Given the description of an element on the screen output the (x, y) to click on. 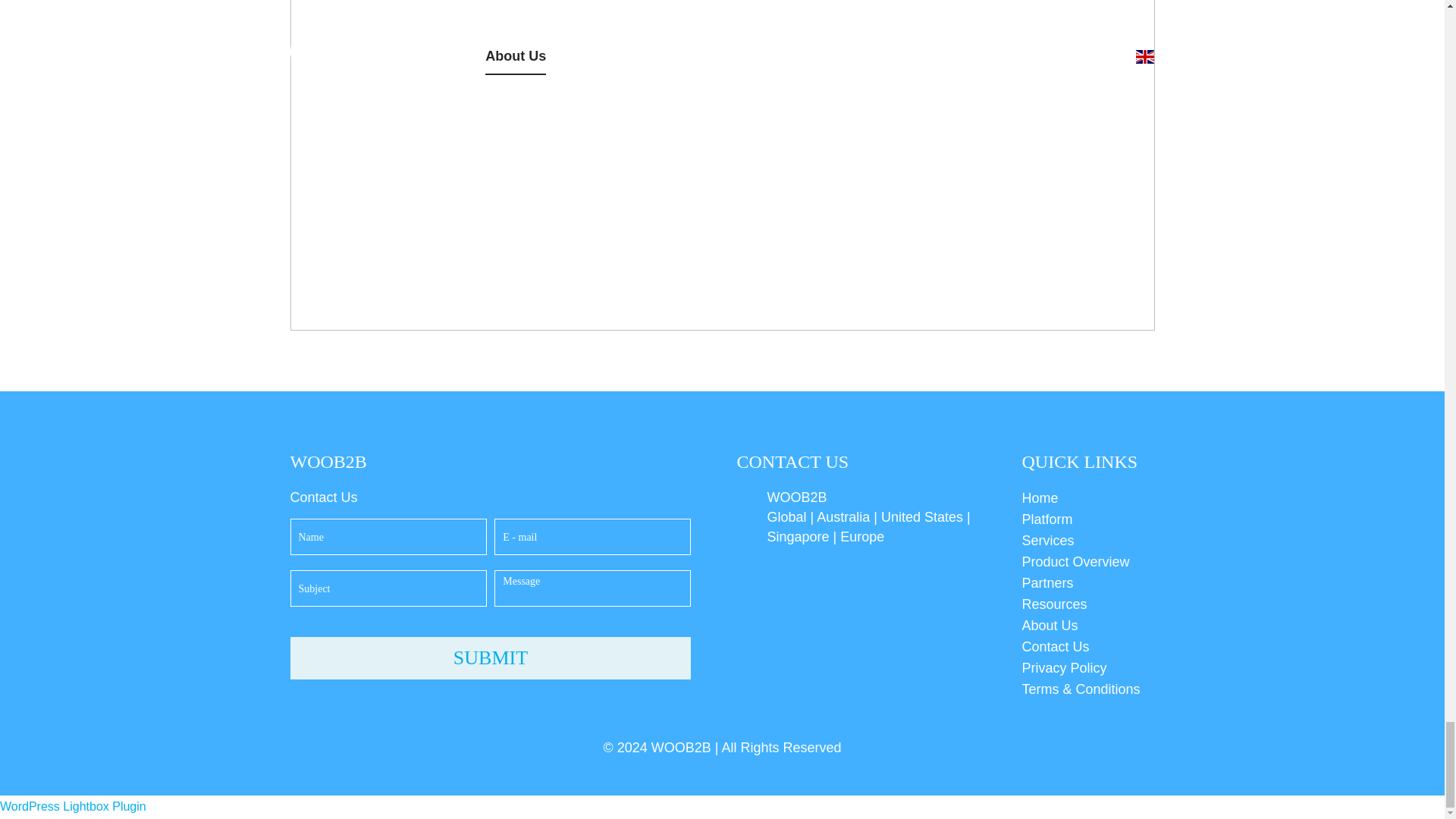
Partners (1088, 582)
SUBMIT (489, 658)
Resources (1088, 604)
Home (1088, 497)
WordPress Lightbox Plugin (73, 806)
About Us (1088, 625)
WordPress Lightbox Plugin (73, 806)
Services (1088, 540)
Product Overview (1088, 561)
Platform (1088, 518)
